Given the description of an element on the screen output the (x, y) to click on. 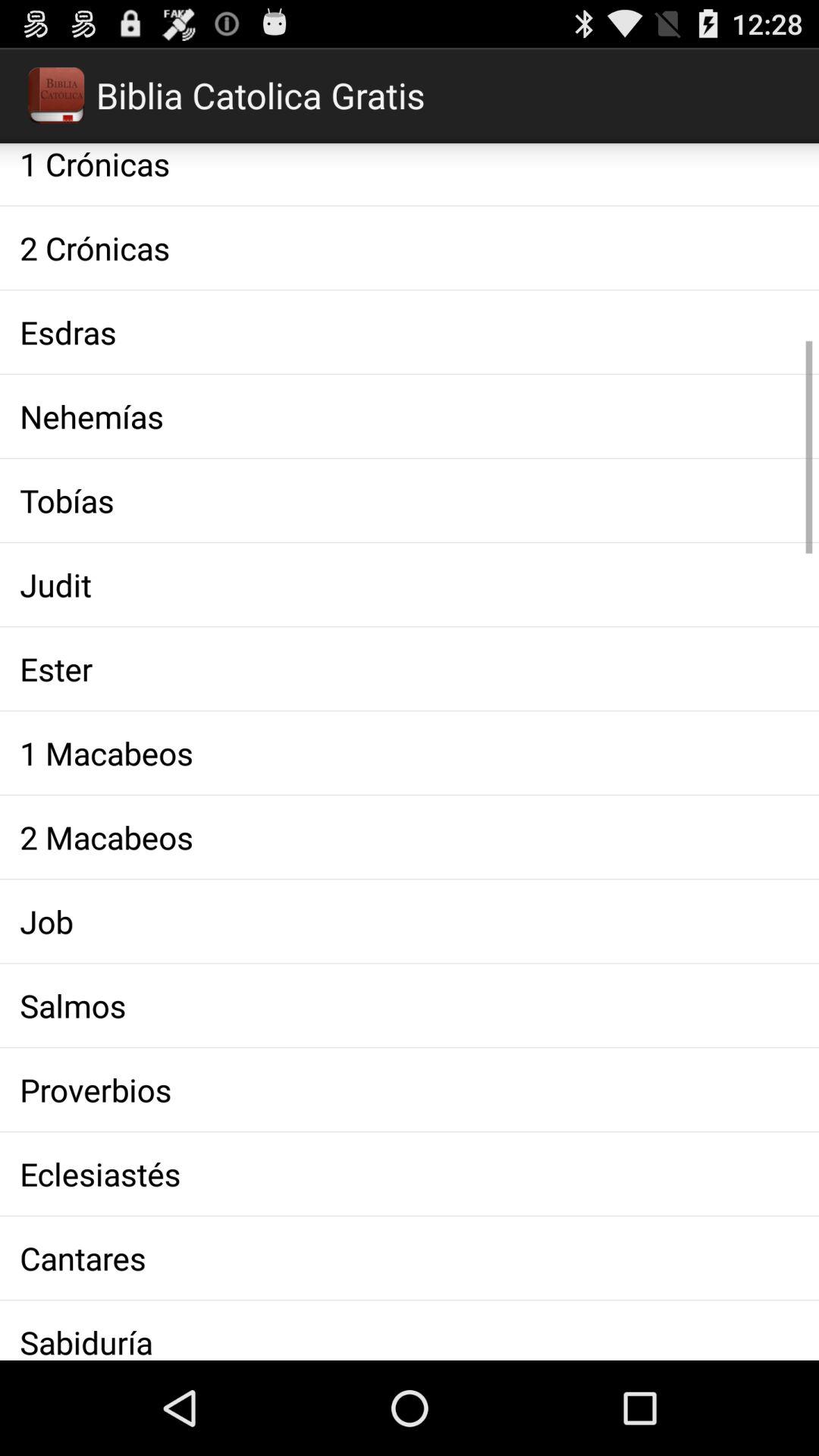
select the item above the salmos icon (409, 920)
